Given the description of an element on the screen output the (x, y) to click on. 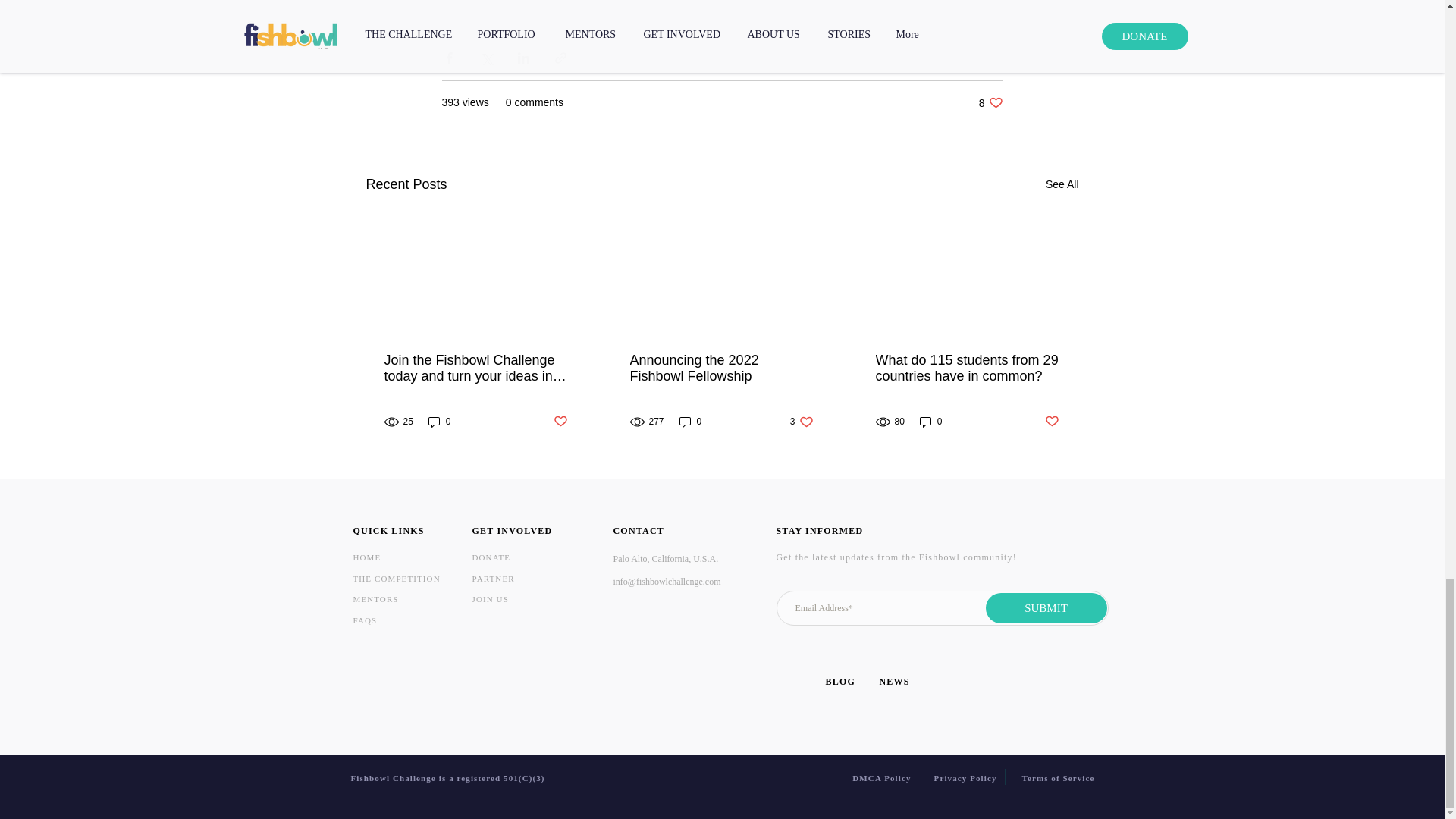
HOME (367, 556)
0 (690, 421)
0 (801, 421)
FAQS (439, 421)
MENTORS (365, 619)
Post not marked as liked (375, 598)
0 (1052, 421)
